Given the description of an element on the screen output the (x, y) to click on. 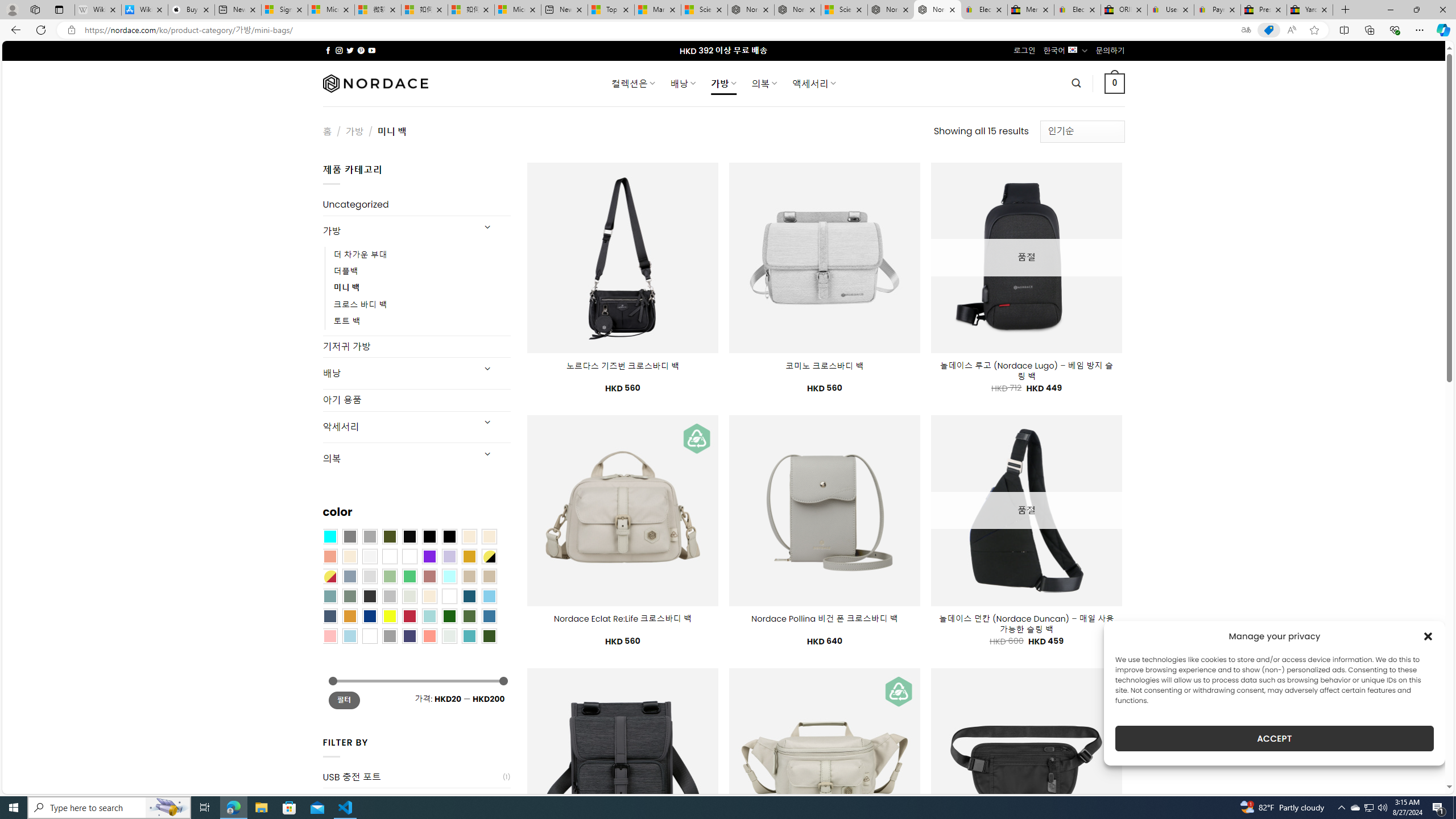
Buy iPad - Apple (191, 9)
